Given the description of an element on the screen output the (x, y) to click on. 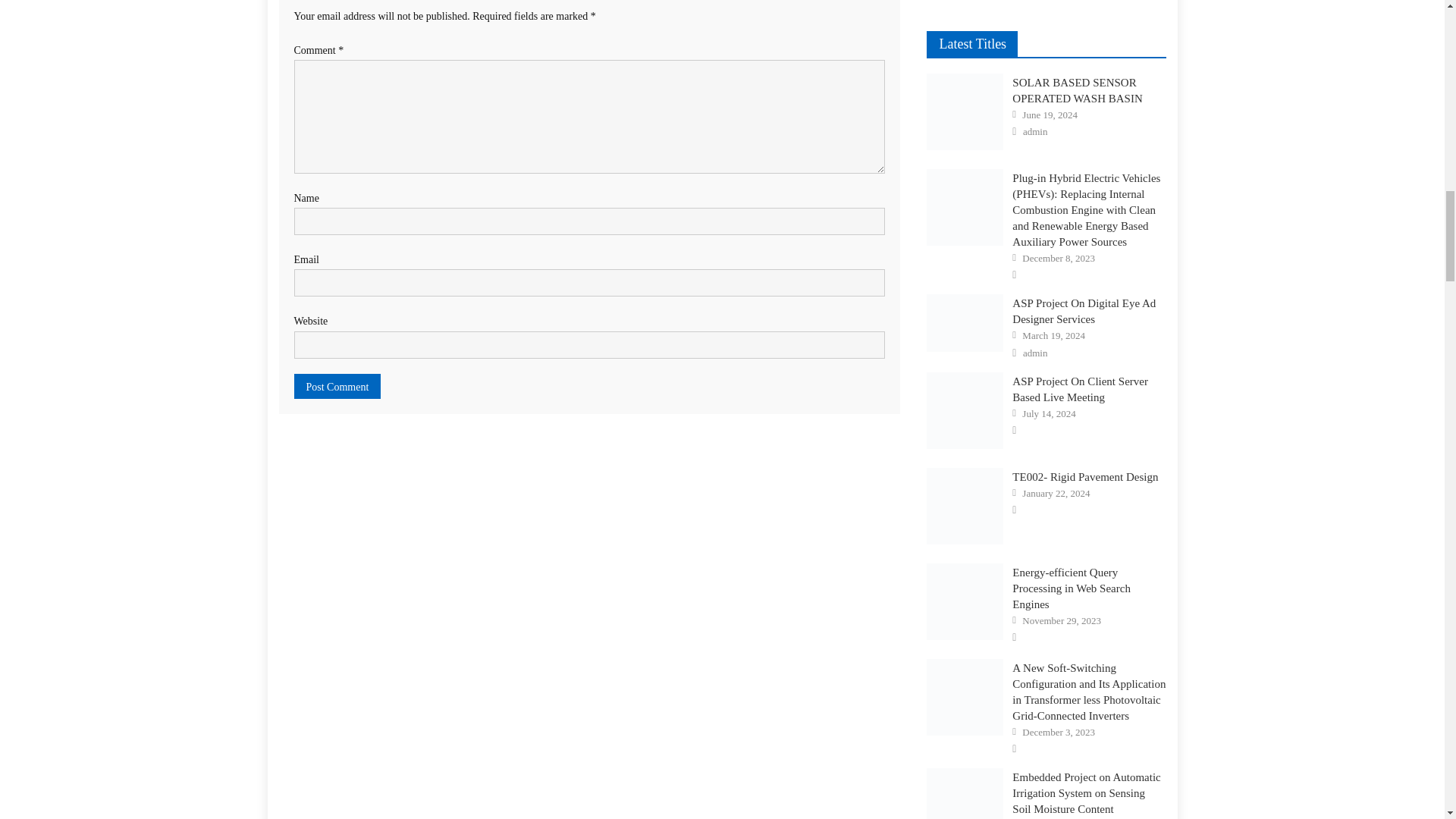
SOLAR BASED SENSOR OPERATED WASH BASIN (964, 111)
ASP Project On Digital Eye Ad Designer Services (964, 323)
Post Comment (337, 385)
ASP Project On Client Server Based Live Meeting (964, 410)
Energy-efficient Query Processing in Web Search Engines (964, 601)
